Given the description of an element on the screen output the (x, y) to click on. 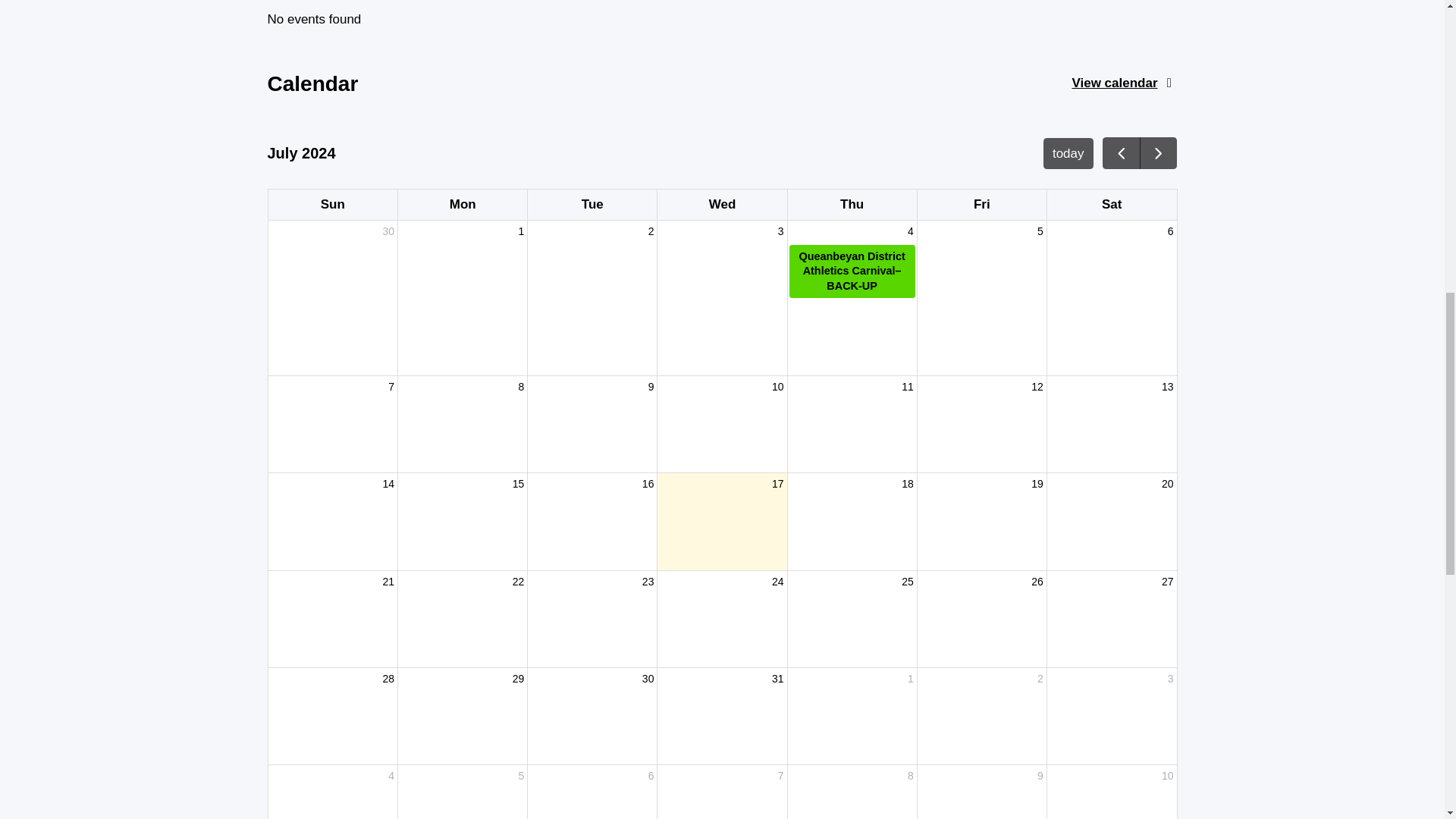
18 (722, 204)
11 (852, 521)
13 (852, 423)
Mon (1111, 423)
Sun (461, 204)
10 (721, 204)
31 (721, 204)
23 (331, 204)
4 (722, 423)
5 (722, 716)
Thu (591, 618)
27 (332, 791)
